Given the description of an element on the screen output the (x, y) to click on. 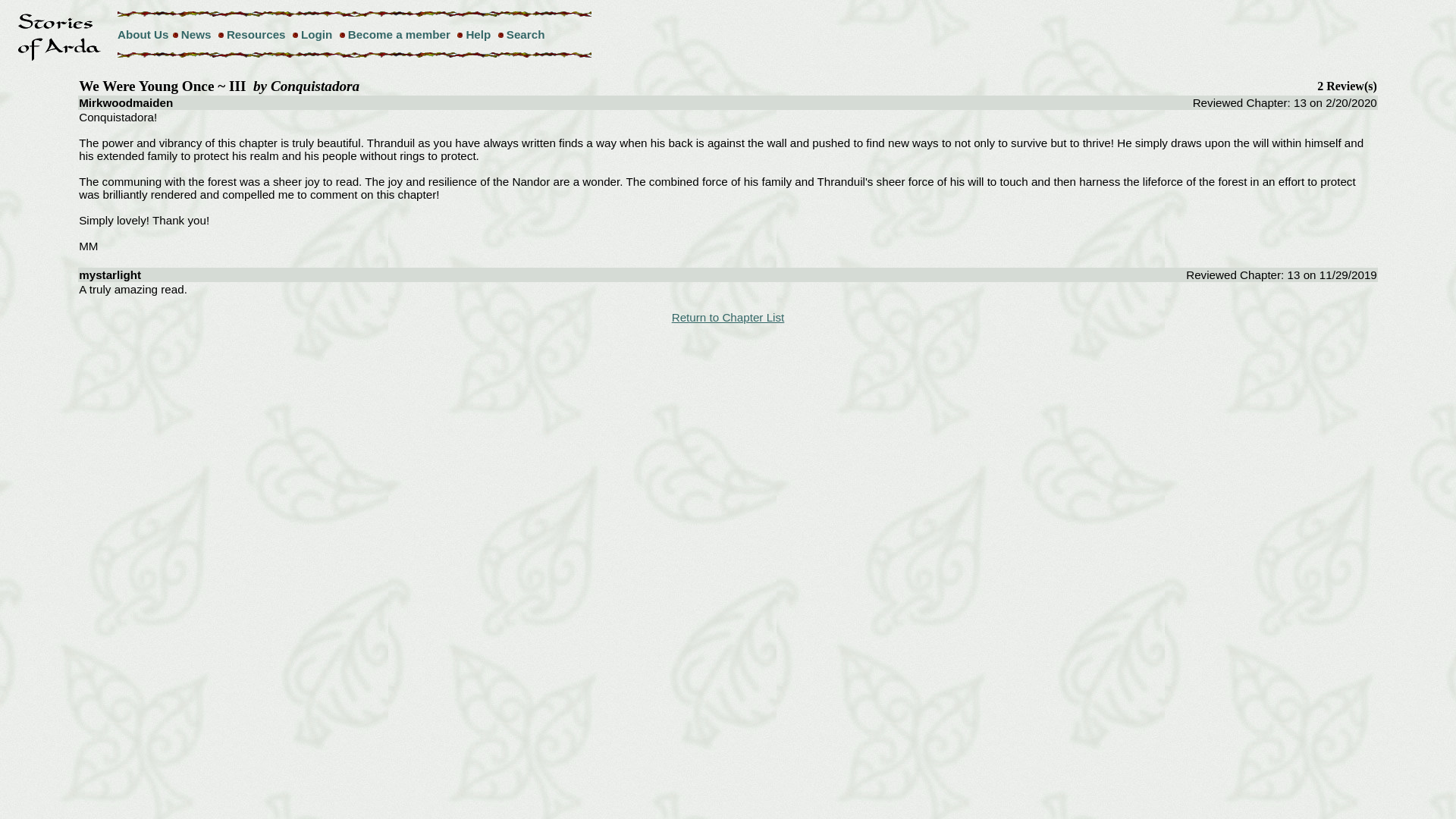
News (195, 33)
Return to Chapter List (727, 317)
Search (525, 33)
About Us (142, 33)
Become a member (398, 33)
Help (477, 33)
Login (316, 33)
Resources (256, 33)
